Given the description of an element on the screen output the (x, y) to click on. 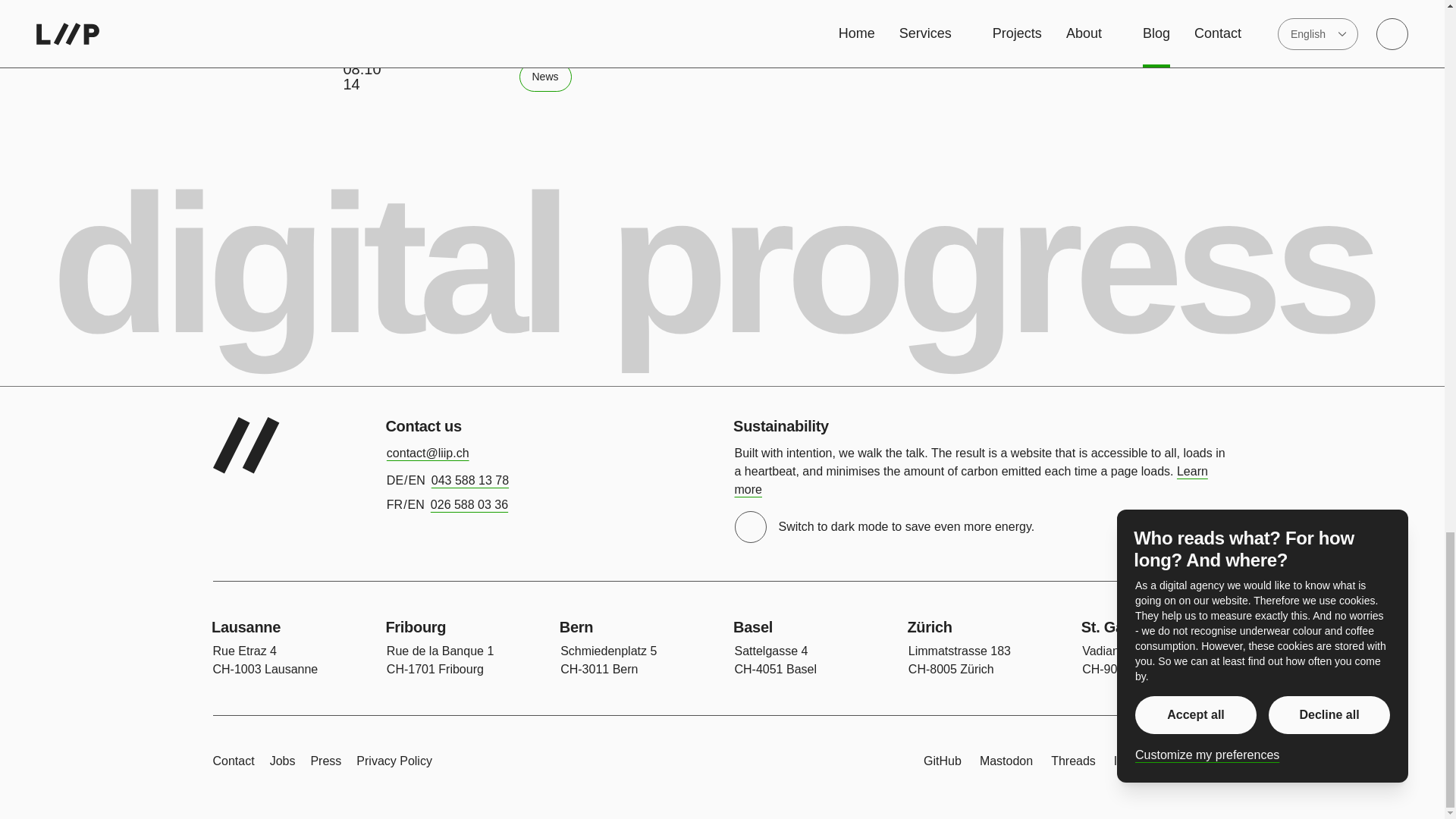
Directions (440, 661)
Directions (1134, 661)
Directions (264, 661)
Directions (608, 661)
Directions (959, 661)
Directions (774, 661)
